Given the description of an element on the screen output the (x, y) to click on. 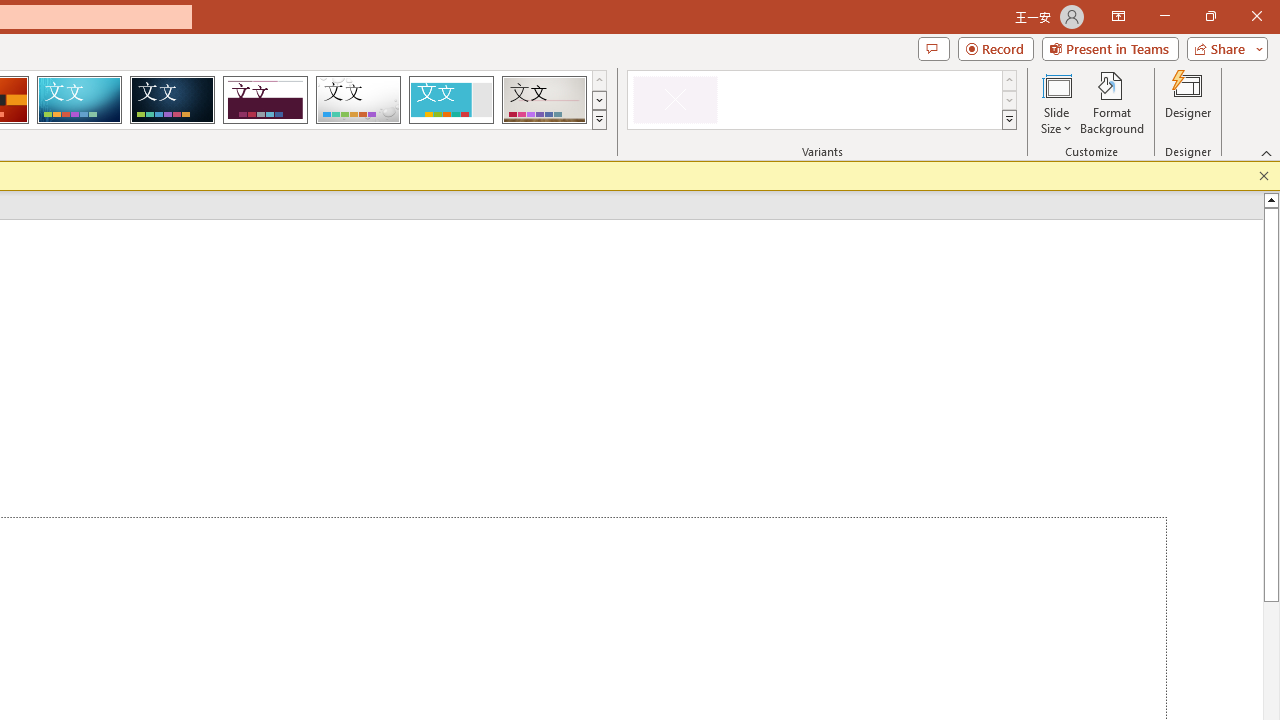
Restore Down (1210, 16)
Row up (1009, 79)
Close this message (1263, 176)
Circuit (79, 100)
Share (1223, 48)
Comments (933, 48)
Row Down (1009, 100)
Frame (450, 100)
AutomationID: ThemeVariantsGallery (822, 99)
Themes (598, 120)
Damask (171, 100)
Collapse the Ribbon (1267, 152)
Format Background (1111, 102)
Present in Teams (1109, 48)
